Given the description of an element on the screen output the (x, y) to click on. 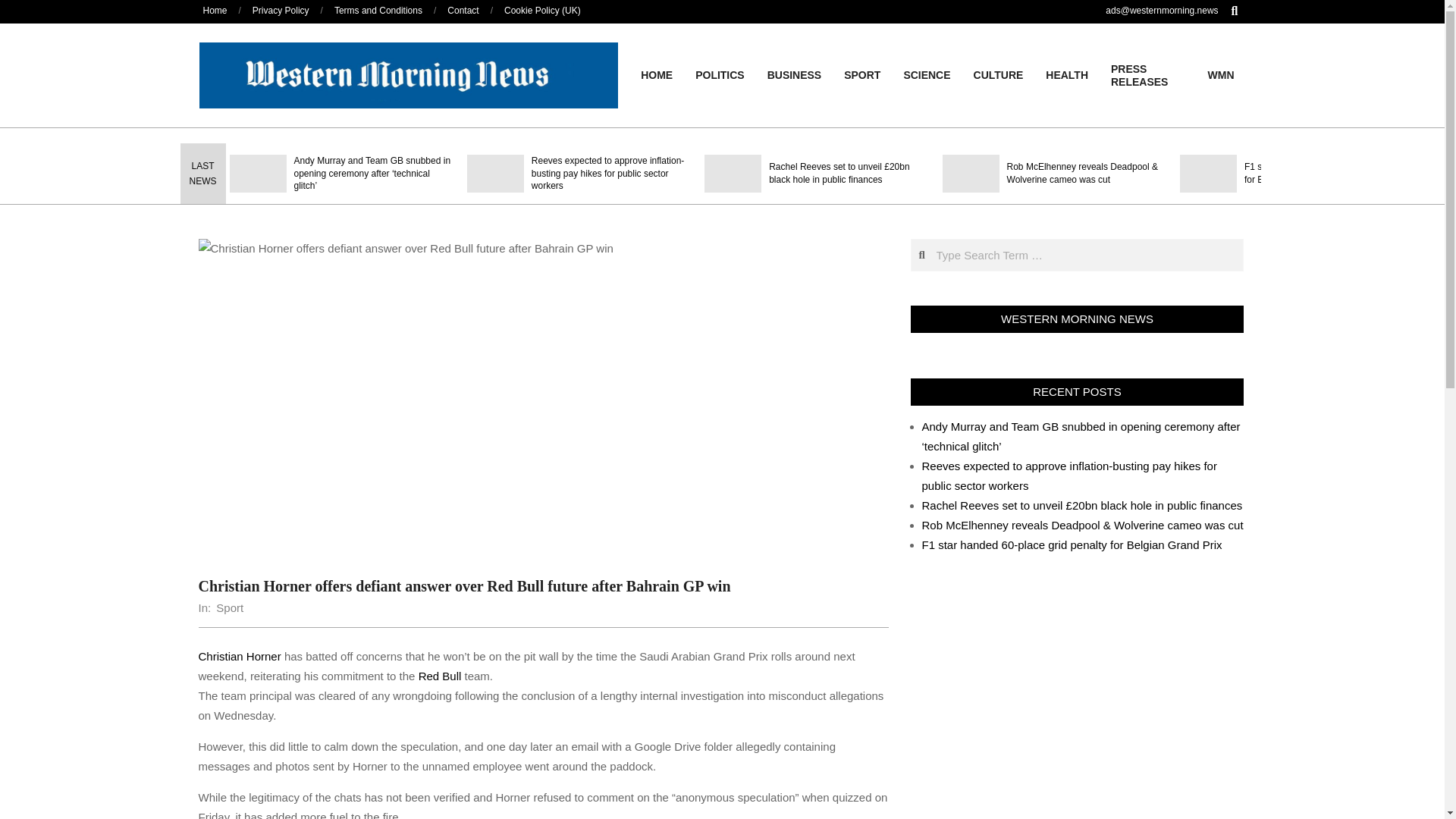
HOME (656, 74)
Privacy Policy (279, 9)
POLITICS (719, 74)
SPORT (861, 74)
F1 star handed 60-place grid penalty for Belgian Grand Prix (1317, 173)
Terms and Conditions (378, 9)
BUSINESS (793, 74)
Search (21, 8)
SCIENCE (925, 74)
HEALTH (1066, 74)
Home (215, 9)
Sport (229, 607)
PRESS RELEASES (1147, 75)
CULTURE (998, 74)
